Given the description of an element on the screen output the (x, y) to click on. 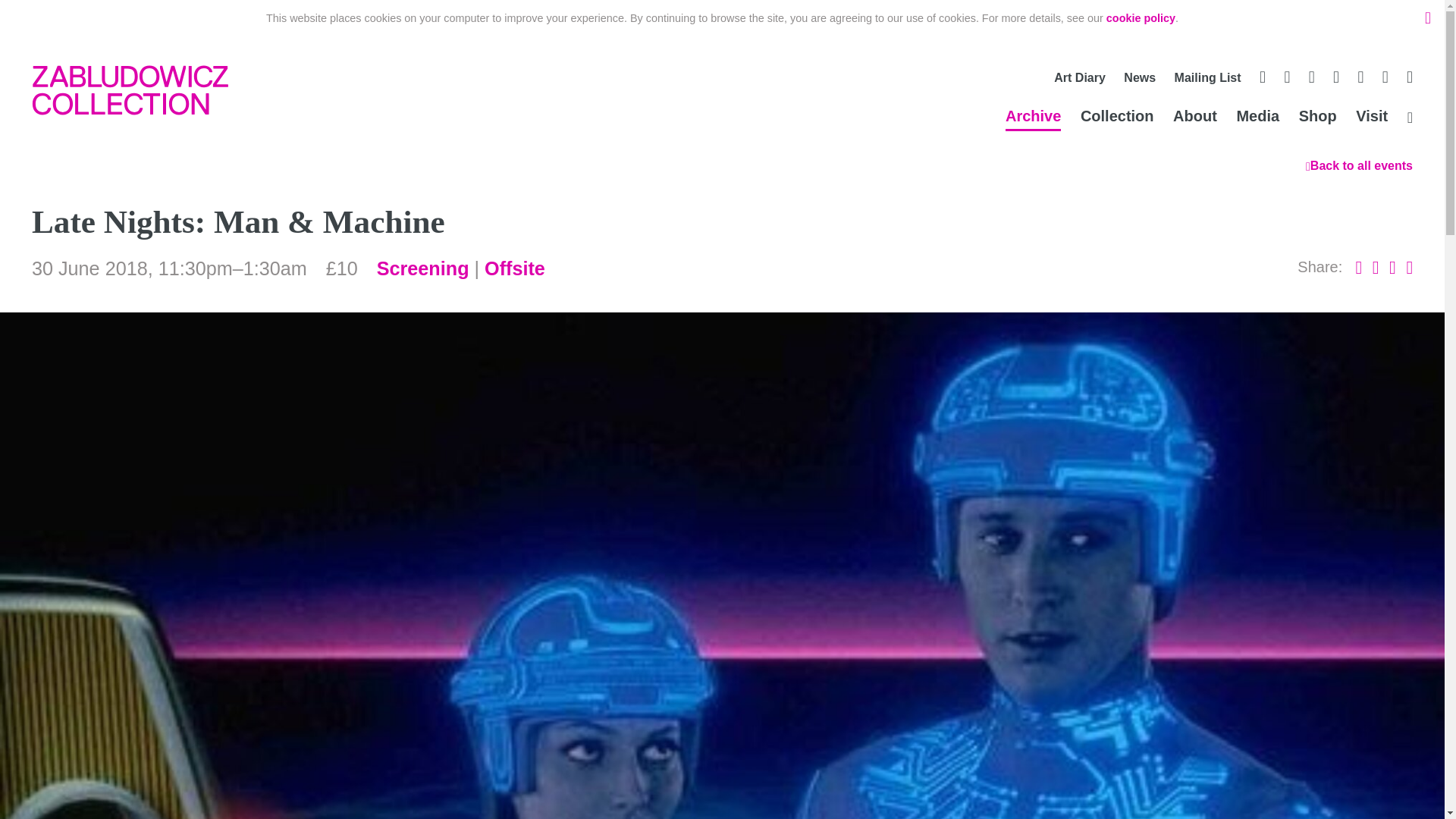
Mailing List (1207, 80)
cookie policy (1140, 18)
Shop (1317, 119)
Media (1257, 119)
Visit (1371, 119)
Collection (1117, 119)
About (1195, 119)
Archive (1033, 119)
Art Diary (1079, 80)
News (1140, 80)
